Given the description of an element on the screen output the (x, y) to click on. 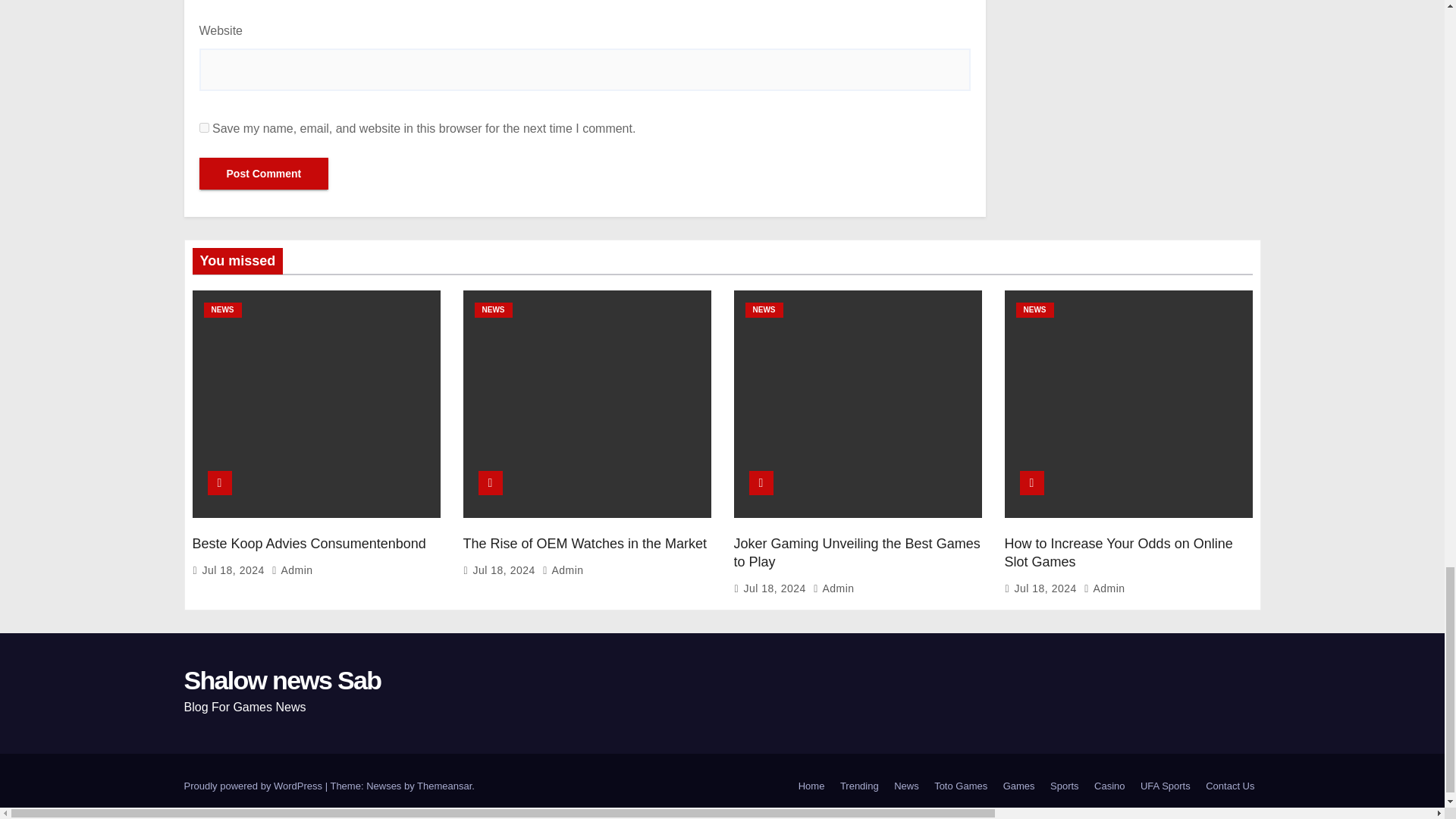
yes (203, 127)
Post Comment (263, 173)
